Given the description of an element on the screen output the (x, y) to click on. 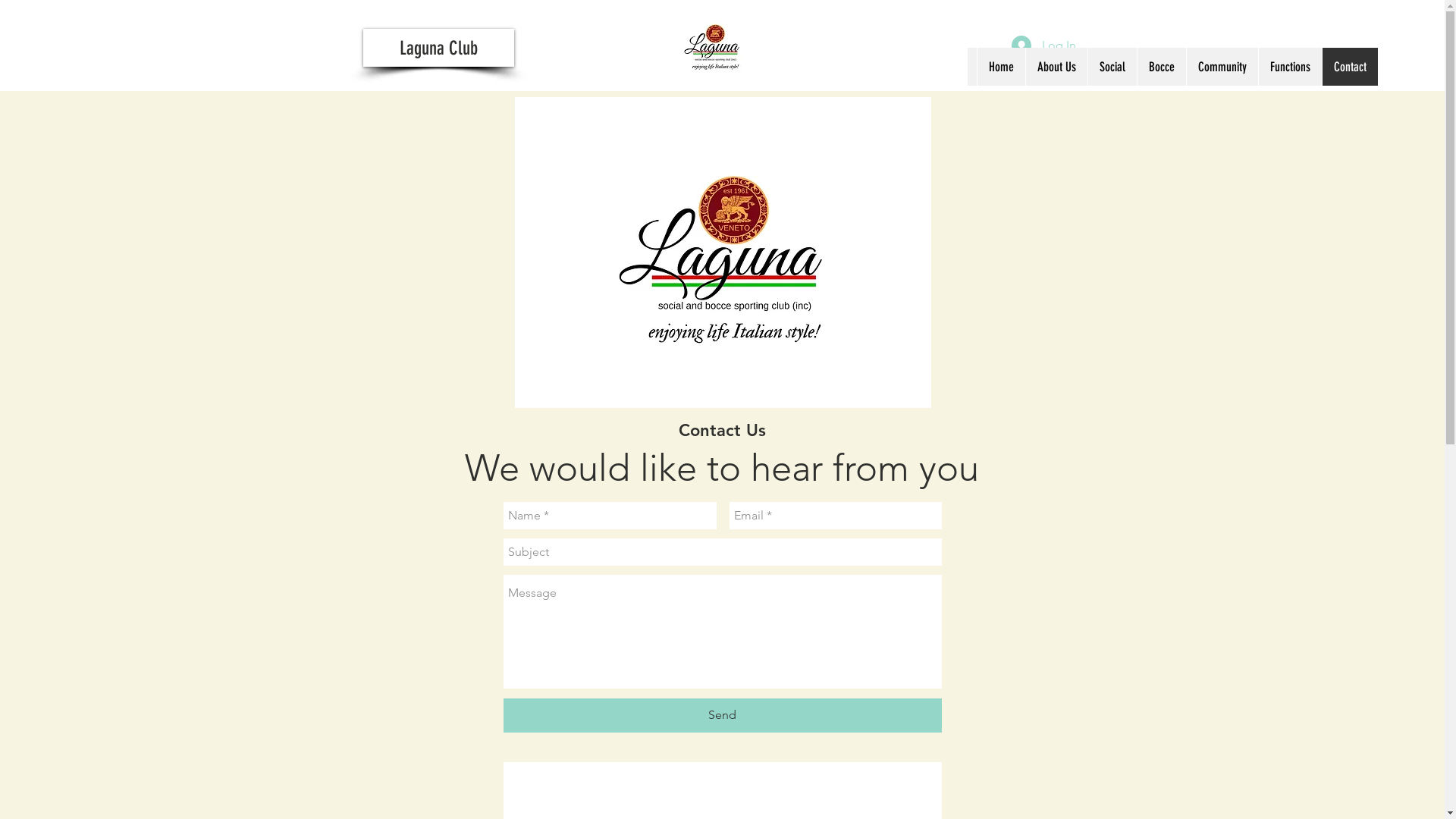
Log In Element type: text (1043, 45)
Functions Element type: text (1289, 66)
Bocce Element type: text (1161, 66)
Social Element type: text (1111, 66)
About Us Element type: text (1056, 66)
Contact Element type: text (1349, 66)
Send Element type: text (722, 715)
Home Element type: text (1000, 66)
Laguna Club Element type: text (438, 47)
Community Element type: text (1222, 66)
